Given the description of an element on the screen output the (x, y) to click on. 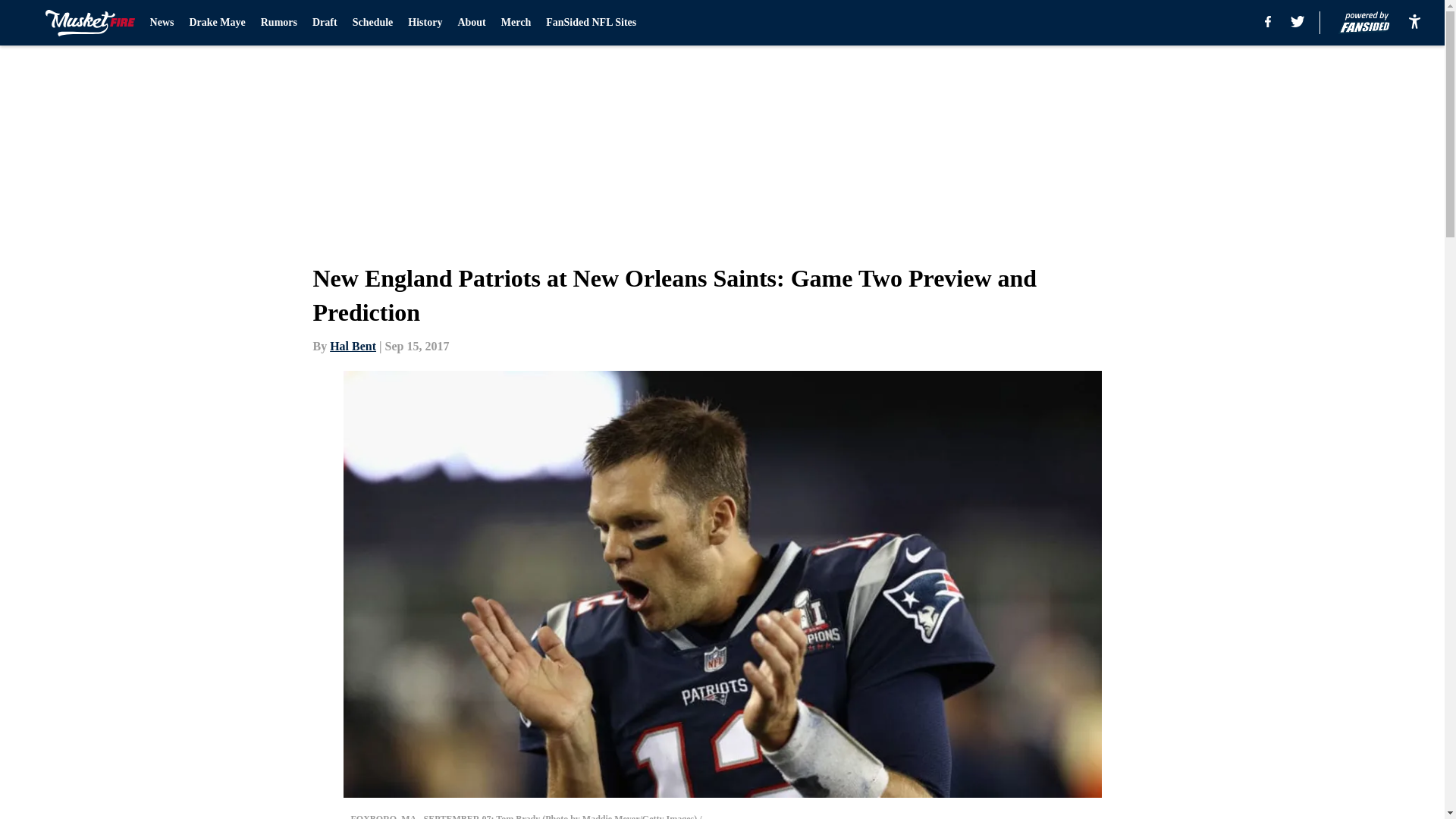
About (470, 22)
Rumors (278, 22)
Schedule (372, 22)
Draft (325, 22)
News (161, 22)
History (424, 22)
FanSided NFL Sites (591, 22)
Merch (515, 22)
Hal Bent (352, 345)
Drake Maye (216, 22)
